Given the description of an element on the screen output the (x, y) to click on. 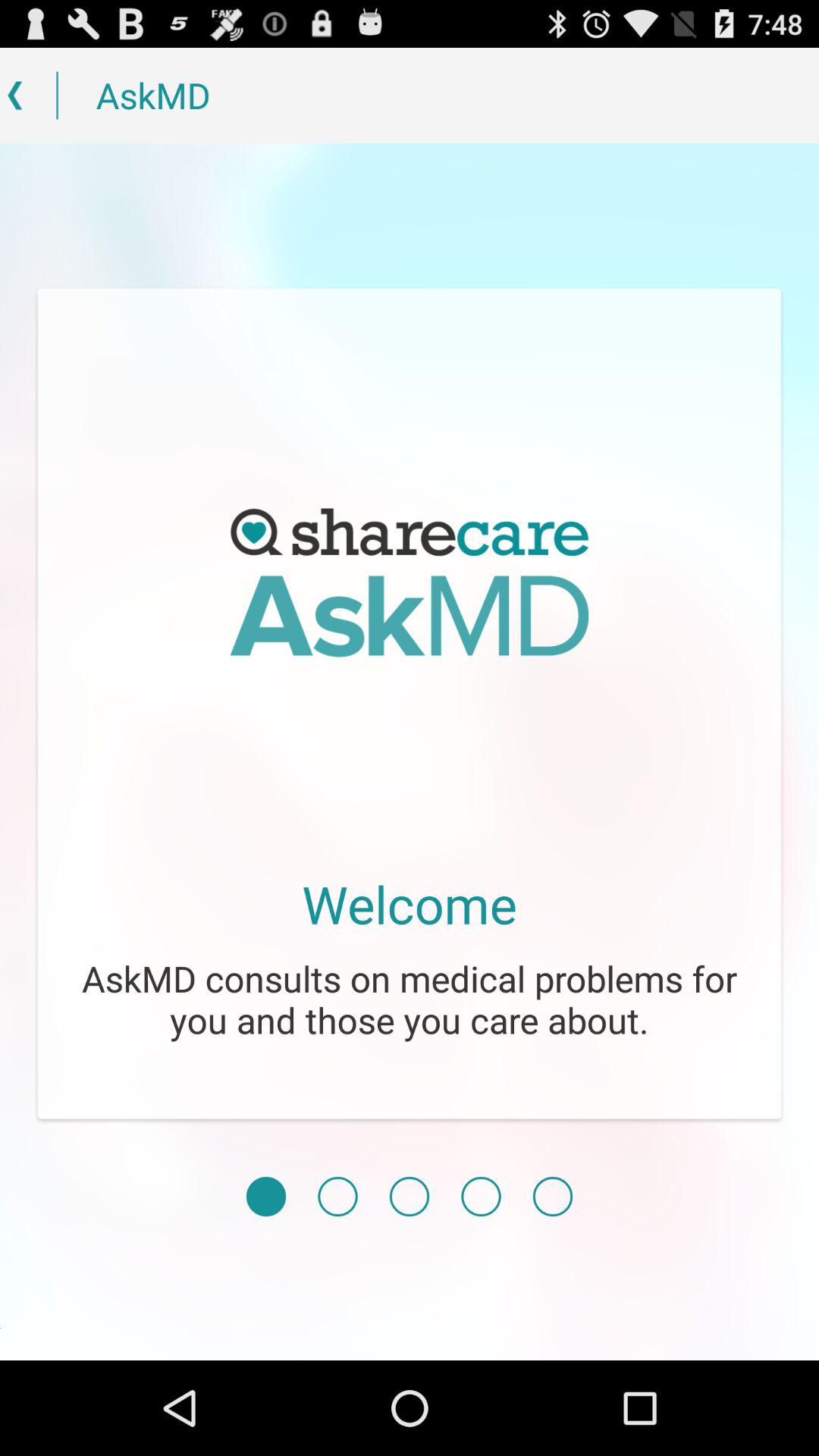
launch icon below the askmd consults on icon (409, 1196)
